Given the description of an element on the screen output the (x, y) to click on. 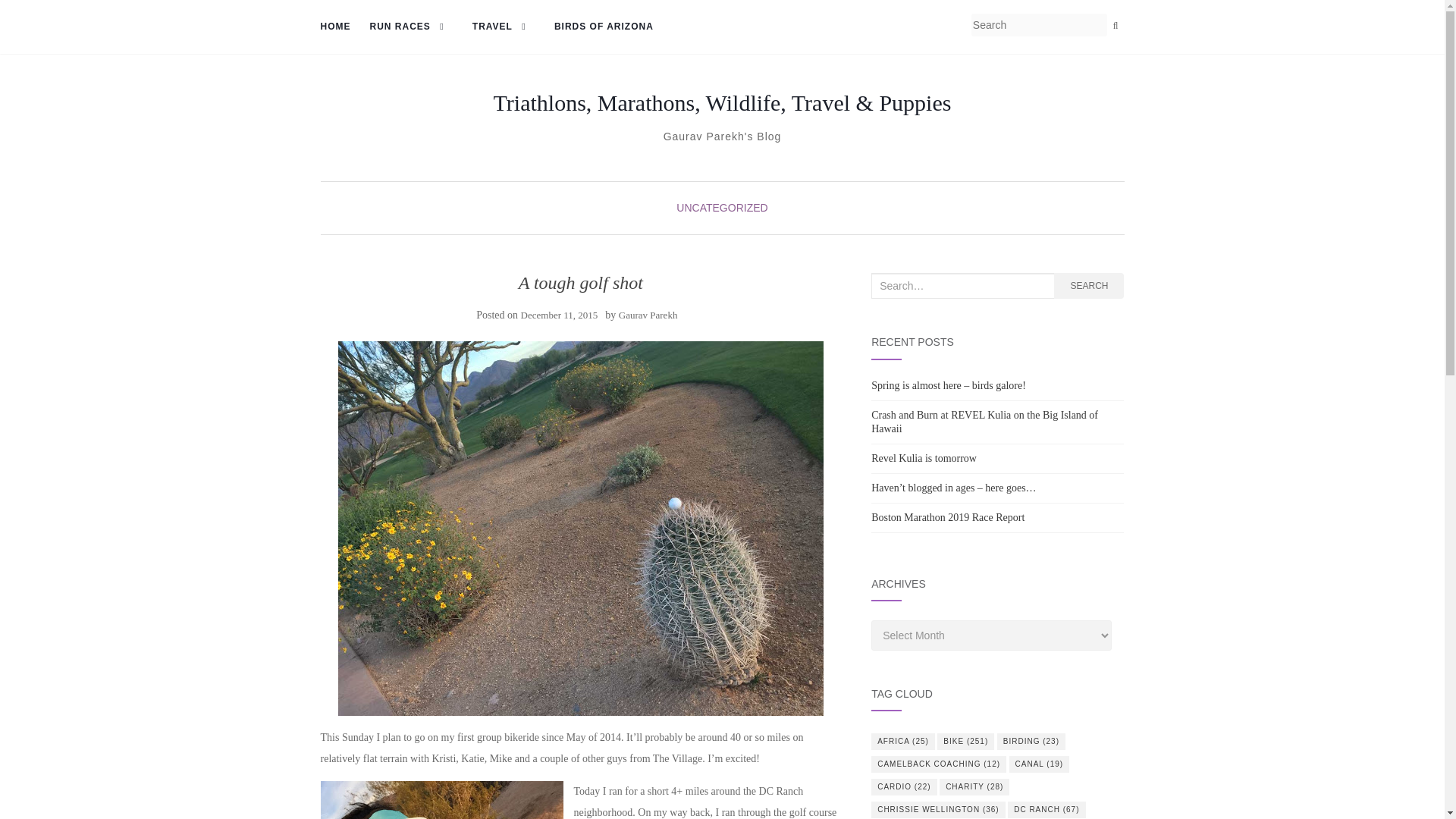
BIRDS OF ARIZONA (603, 27)
Crash and Burn at REVEL Kulia on the Big Island of Hawaii (983, 421)
Gaurav Parekh (648, 315)
Revel Kulia is tomorrow (923, 458)
Run Races (410, 27)
TRAVEL (503, 27)
SEARCH (1089, 285)
RUN RACES (410, 27)
Travel (503, 27)
UNCATEGORIZED (722, 207)
December 11, 2015 (559, 315)
Birds of Arizona (603, 27)
Boston Marathon 2019 Race Report (947, 517)
